Given the description of an element on the screen output the (x, y) to click on. 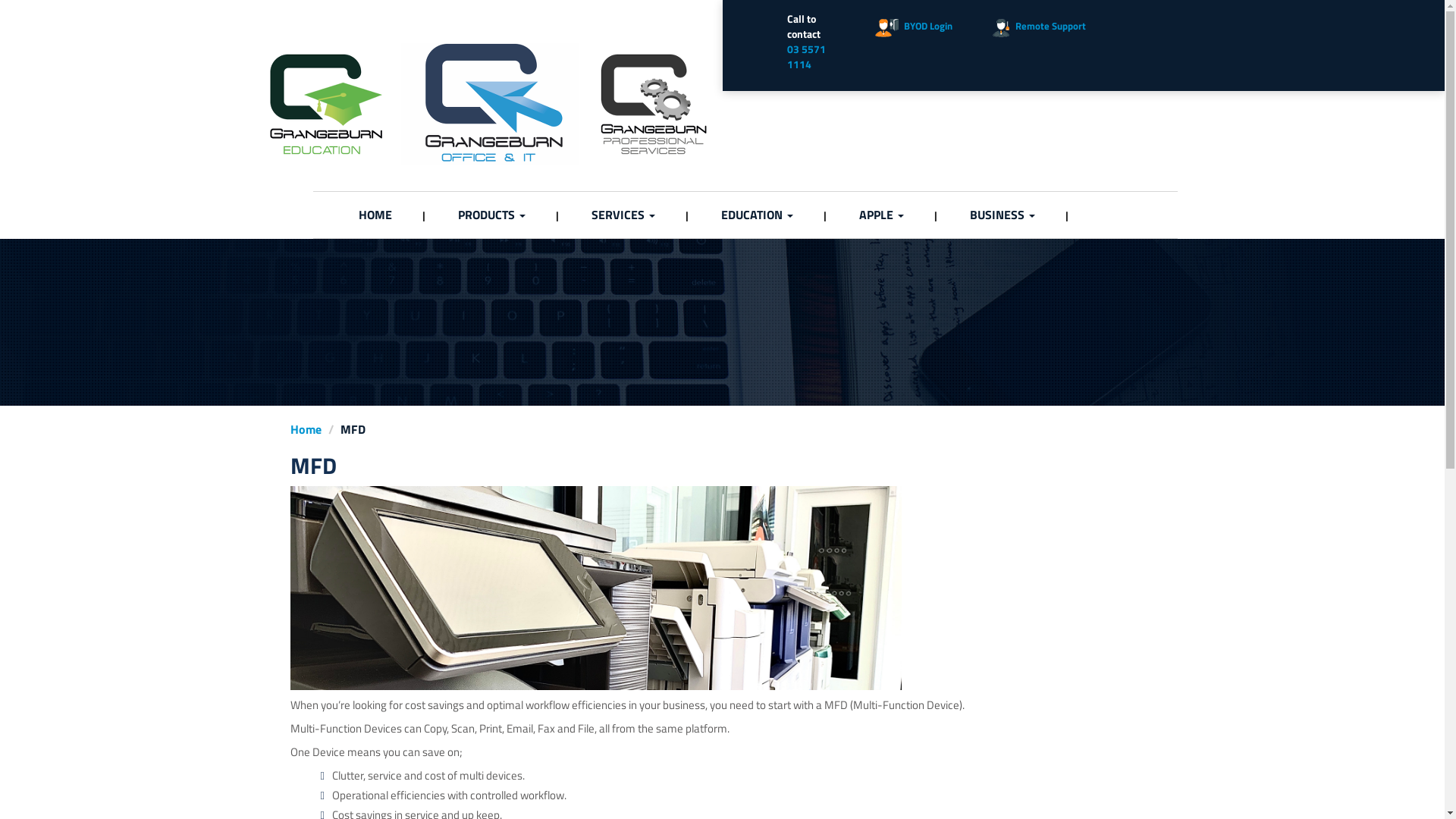
PRODUCTS Element type: text (491, 214)
HOME Element type: text (374, 214)
03 5571 1114 Element type: text (806, 56)
EDUCATION Element type: text (756, 214)
mfd.jpg Element type: hover (594, 586)
APPLE Element type: text (880, 214)
Home Element type: text (304, 429)
BUSINESS Element type: text (1001, 214)
SERVICES Element type: text (623, 214)
